Given the description of an element on the screen output the (x, y) to click on. 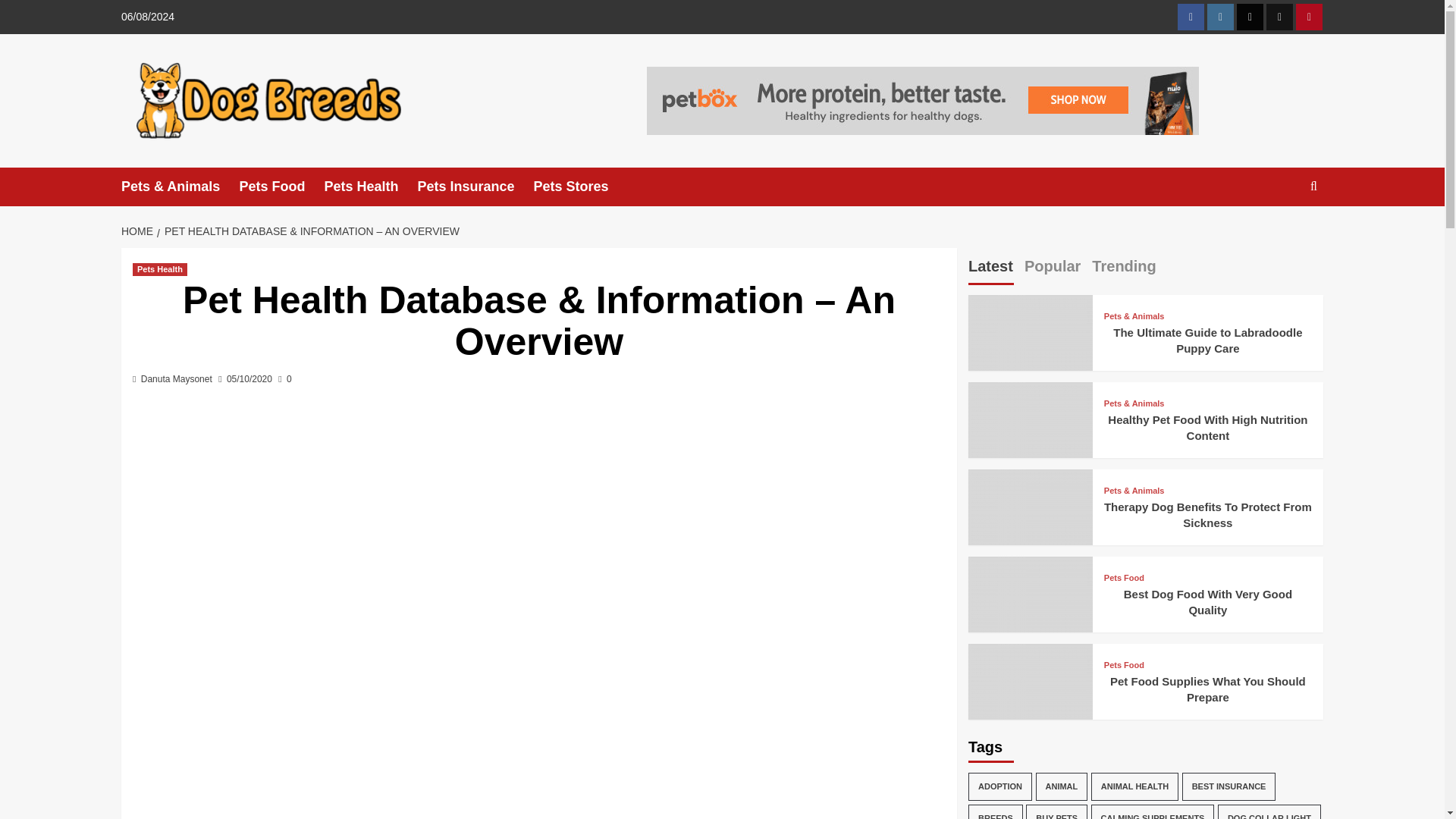
Pet Food Supplies What You Should Prepare (1030, 705)
Facebook (1190, 17)
Instagram (1220, 17)
Pinterest (1308, 17)
Tiktok (1279, 17)
Therapy Dog Benefits To Protect From Sickness (1030, 531)
The Ultimate Guide to Labradoodle Puppy Care (1030, 356)
Healthy Pet Food With High Nutrition Content (1030, 444)
Danuta Maysonet (176, 378)
Pets Stores (580, 186)
